Given the description of an element on the screen output the (x, y) to click on. 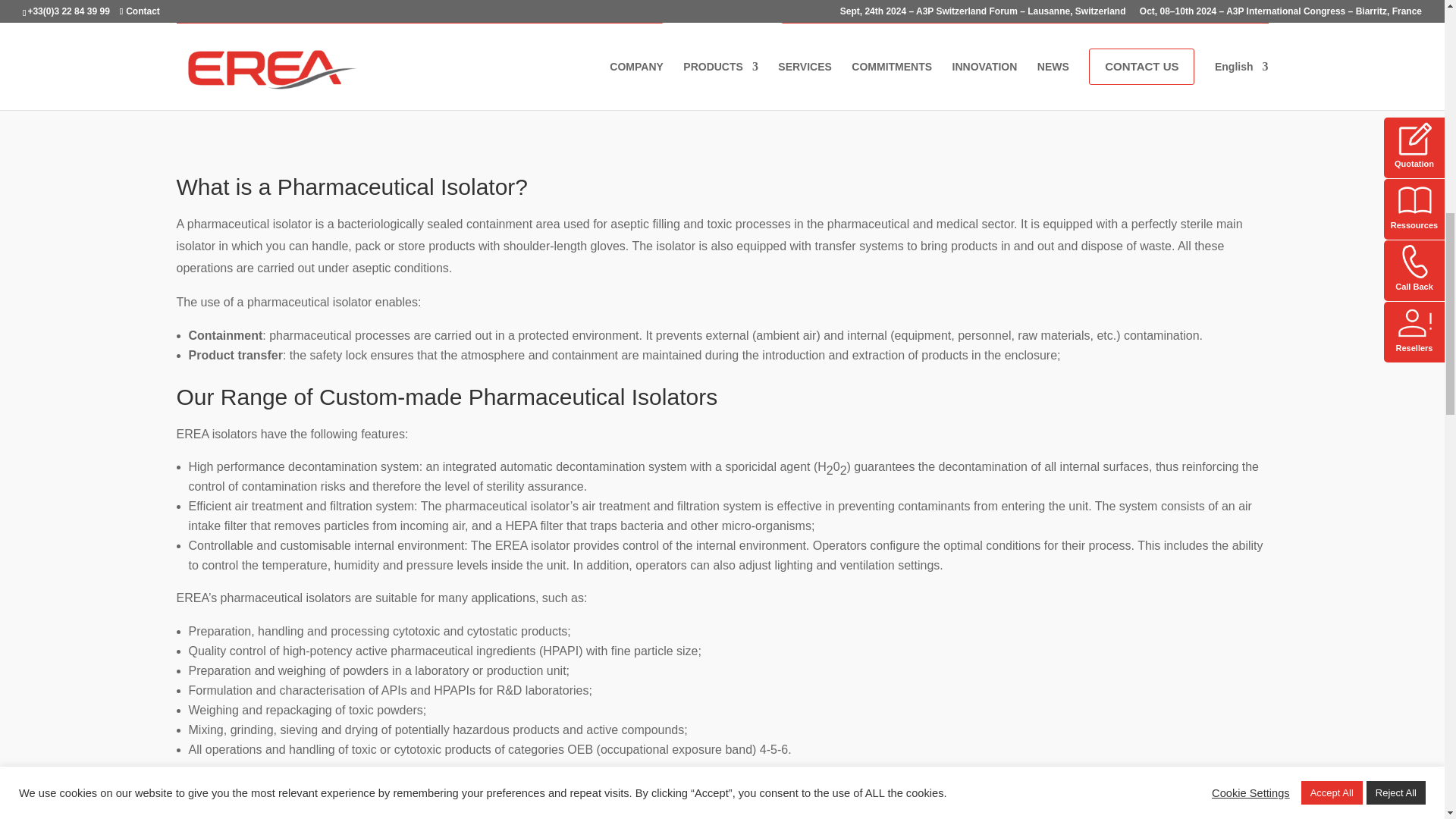
GET A QUOTE (722, 38)
